Given the description of an element on the screen output the (x, y) to click on. 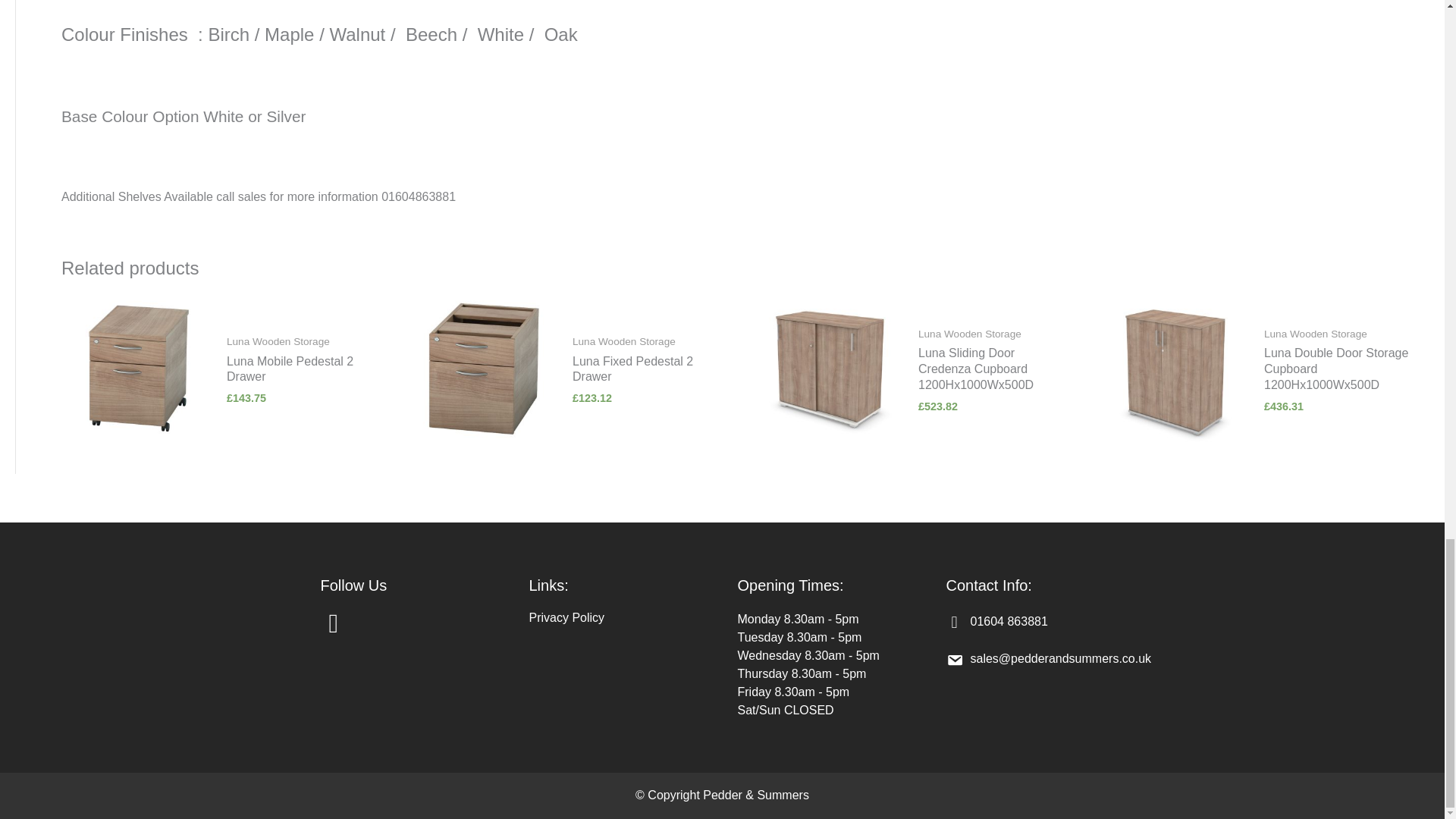
Privacy Policy (567, 617)
